Given the description of an element on the screen output the (x, y) to click on. 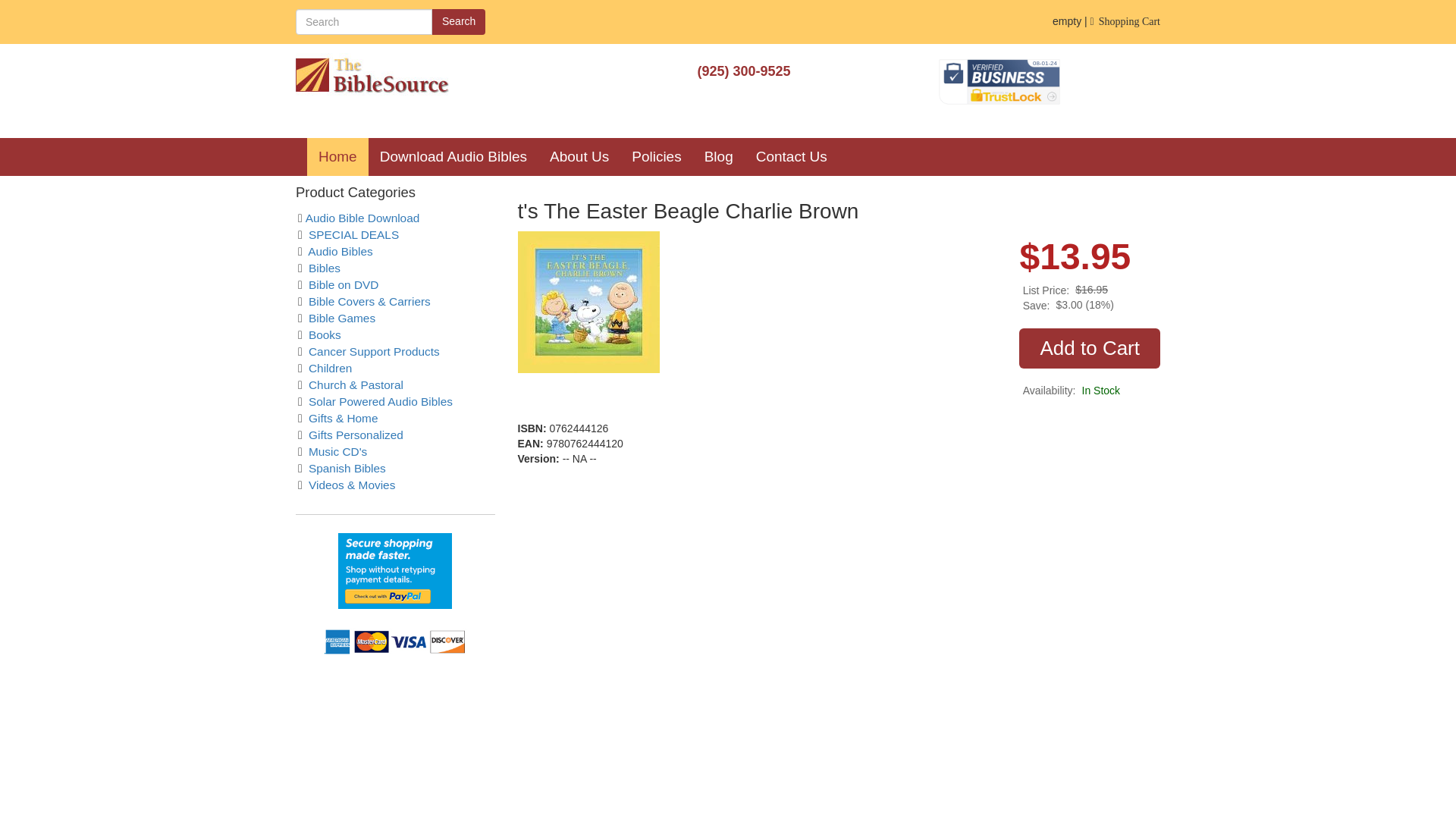
Bibles (324, 267)
About Us (579, 157)
Contact Us (791, 157)
SPECIAL DEALS (353, 234)
Audio Bible Download (362, 217)
Audio Bibles (339, 250)
Blog (718, 157)
Add to Cart (1089, 347)
How PayPal Works (394, 570)
Shopping Cart (1125, 21)
Search (458, 22)
Policies (656, 157)
Download Audio Bibles (453, 157)
